Given the description of an element on the screen output the (x, y) to click on. 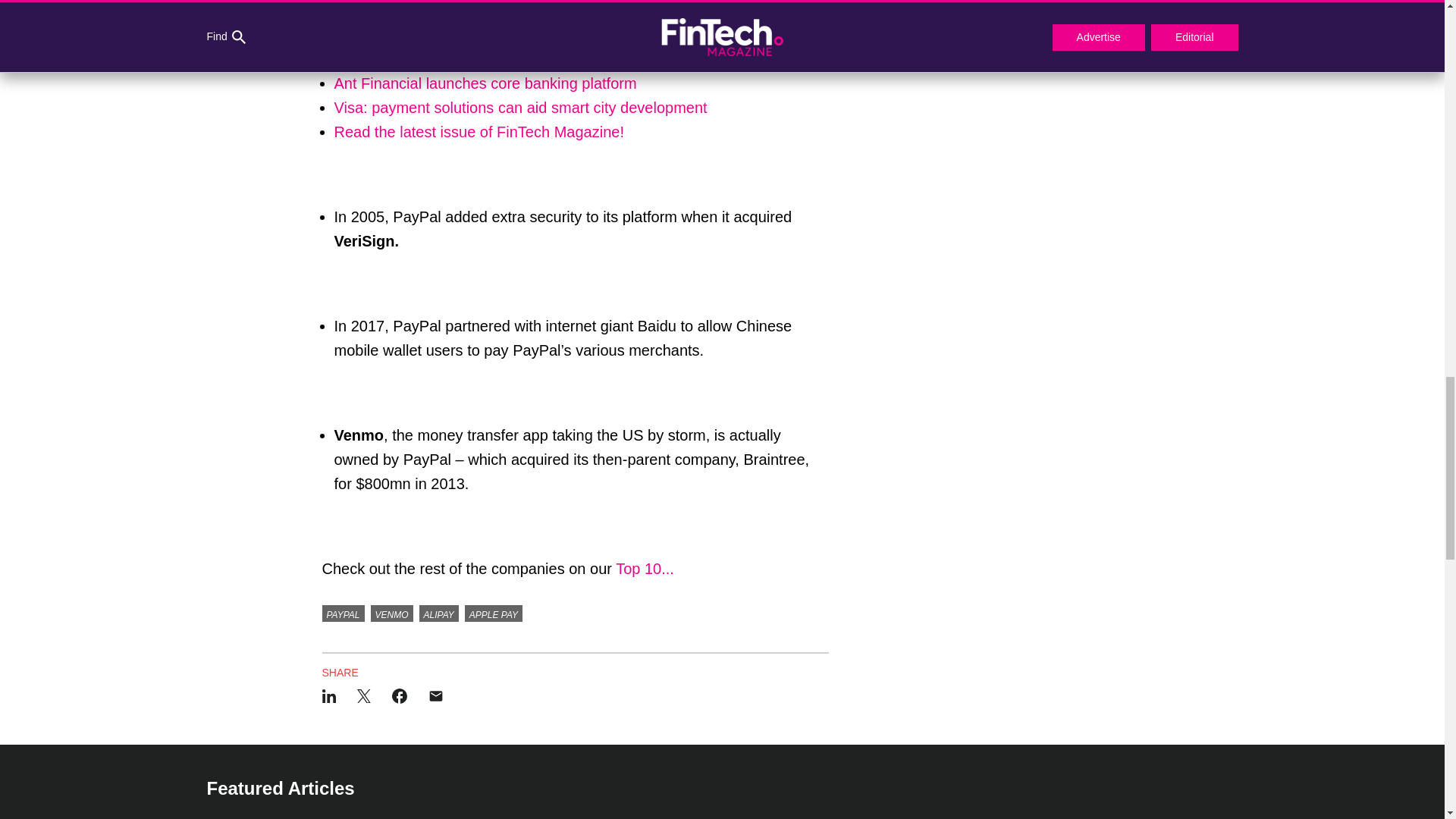
Ant Financial launches core banking platform (484, 83)
PAYPAL (342, 613)
APPLE PAY (493, 613)
VENMO (392, 613)
Visa: payment solutions can aid smart city development  (522, 107)
Read the latest issue of FinTech Magazine!  (480, 131)
ALIPAY (438, 613)
Top 10...  (646, 568)
